Given the description of an element on the screen output the (x, y) to click on. 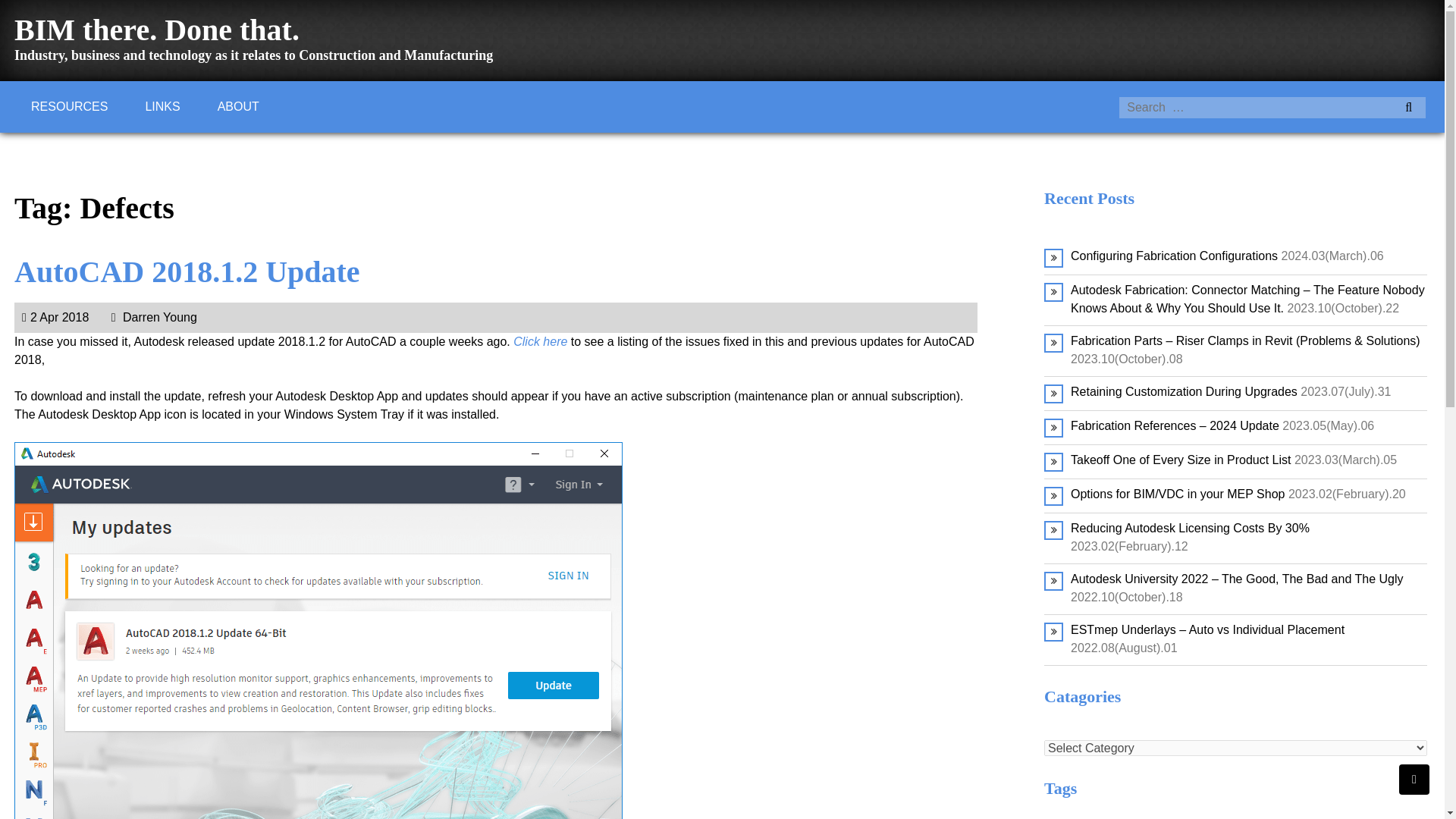
LINKS (162, 106)
Configuring Fabrication Configurations (1174, 255)
RESOURCES (68, 106)
2 Apr 2018 (54, 317)
Retaining Customization During Upgrades (1183, 391)
Darren Young (154, 317)
ABOUT (238, 106)
AutoCAD 2018.1.2 Update (186, 271)
BIM there. Done that. (156, 29)
Click here (540, 341)
